Given the description of an element on the screen output the (x, y) to click on. 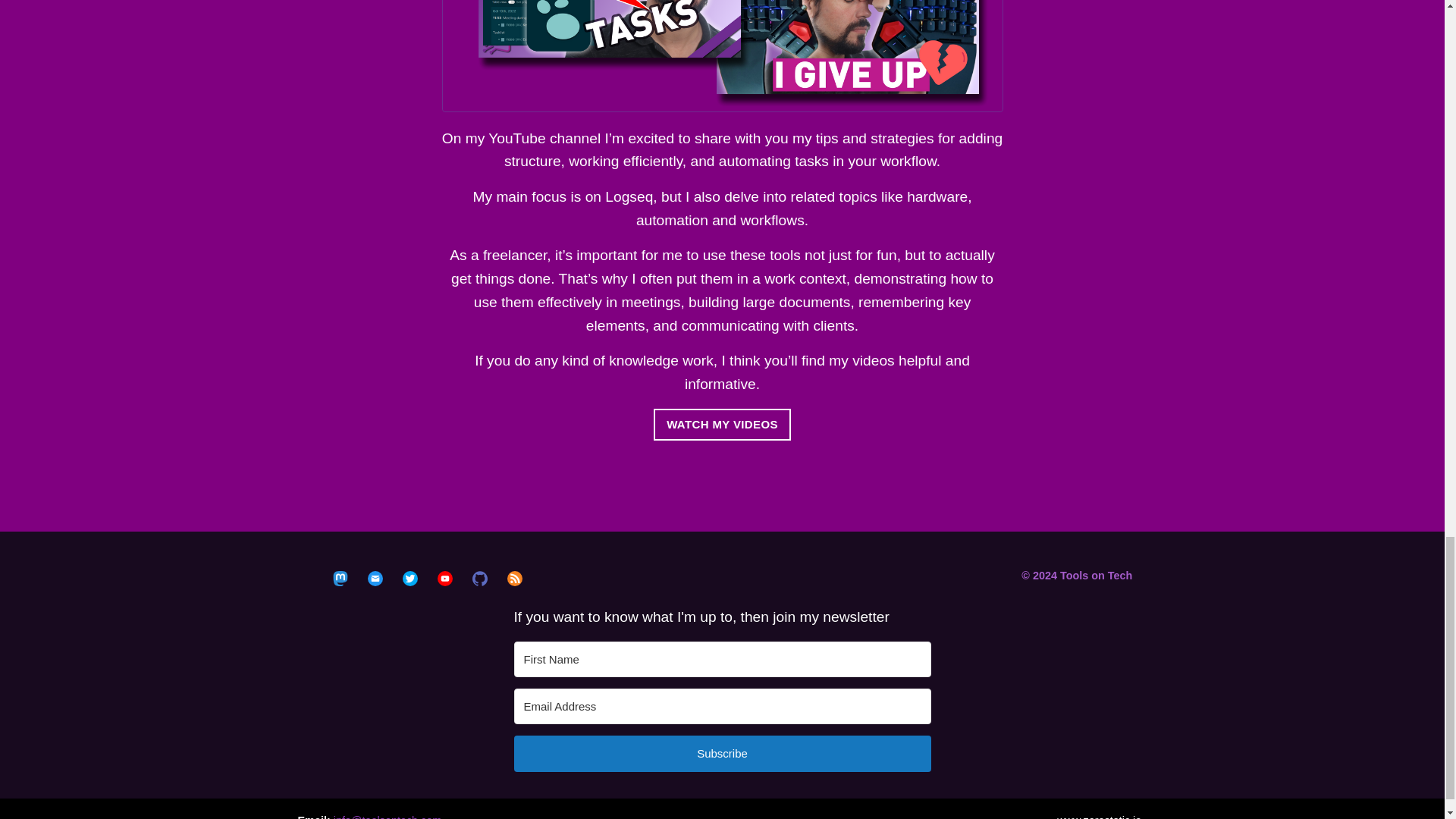
Subscribe (722, 753)
YouTube (445, 578)
Twitter (410, 578)
RSS (514, 578)
Email (375, 578)
www.zerostatic.io (1099, 816)
GitHub (479, 578)
Mastadon (340, 578)
WATCH MY VIDEOS (721, 424)
